Given the description of an element on the screen output the (x, y) to click on. 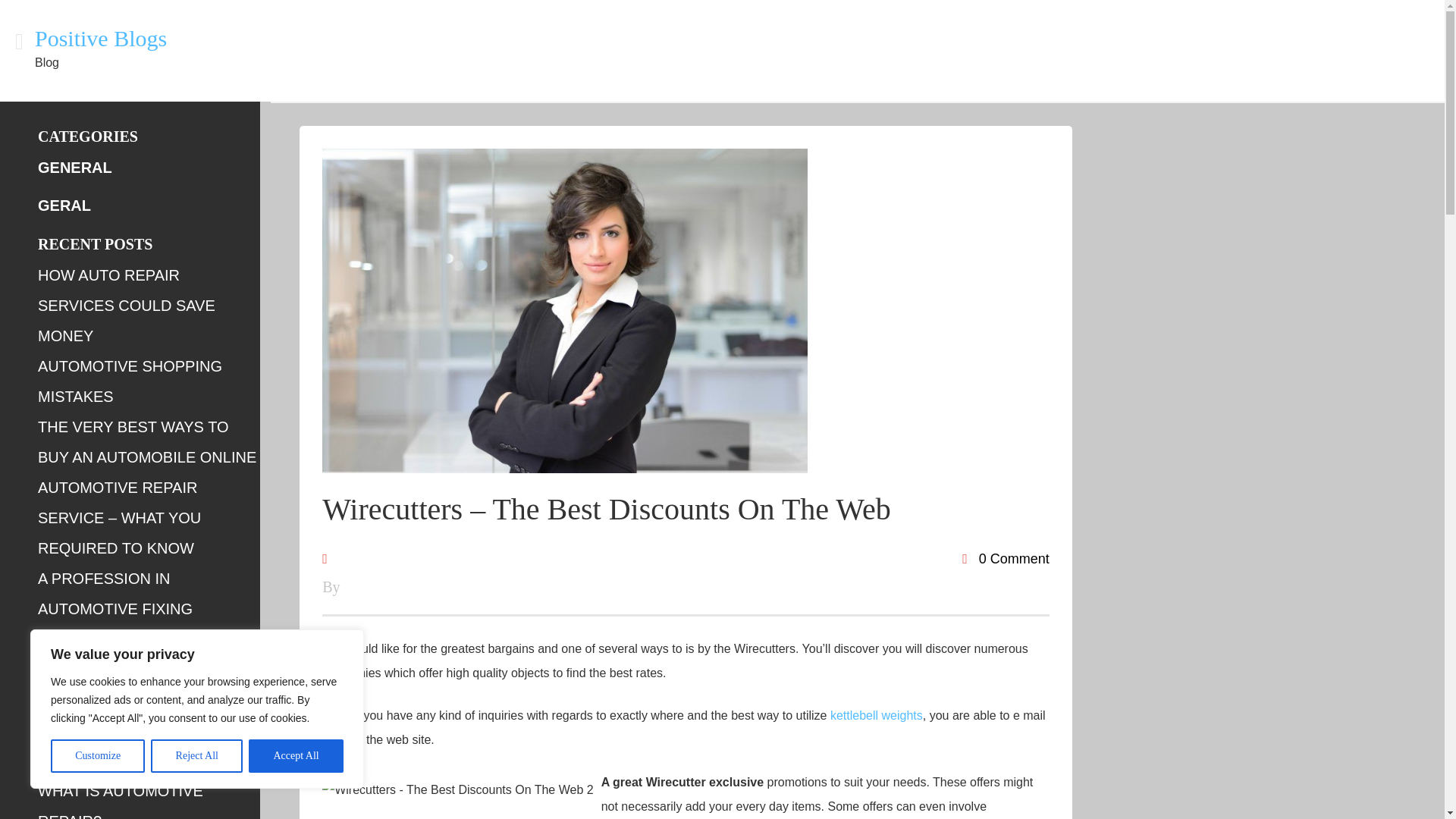
0 Comment (1005, 558)
Accept All (295, 756)
Reject All (197, 756)
kettlebell weights (876, 715)
Positive Blogs (100, 37)
GERAL (63, 205)
GENERAL (74, 167)
Customize (97, 756)
